Given the description of an element on the screen output the (x, y) to click on. 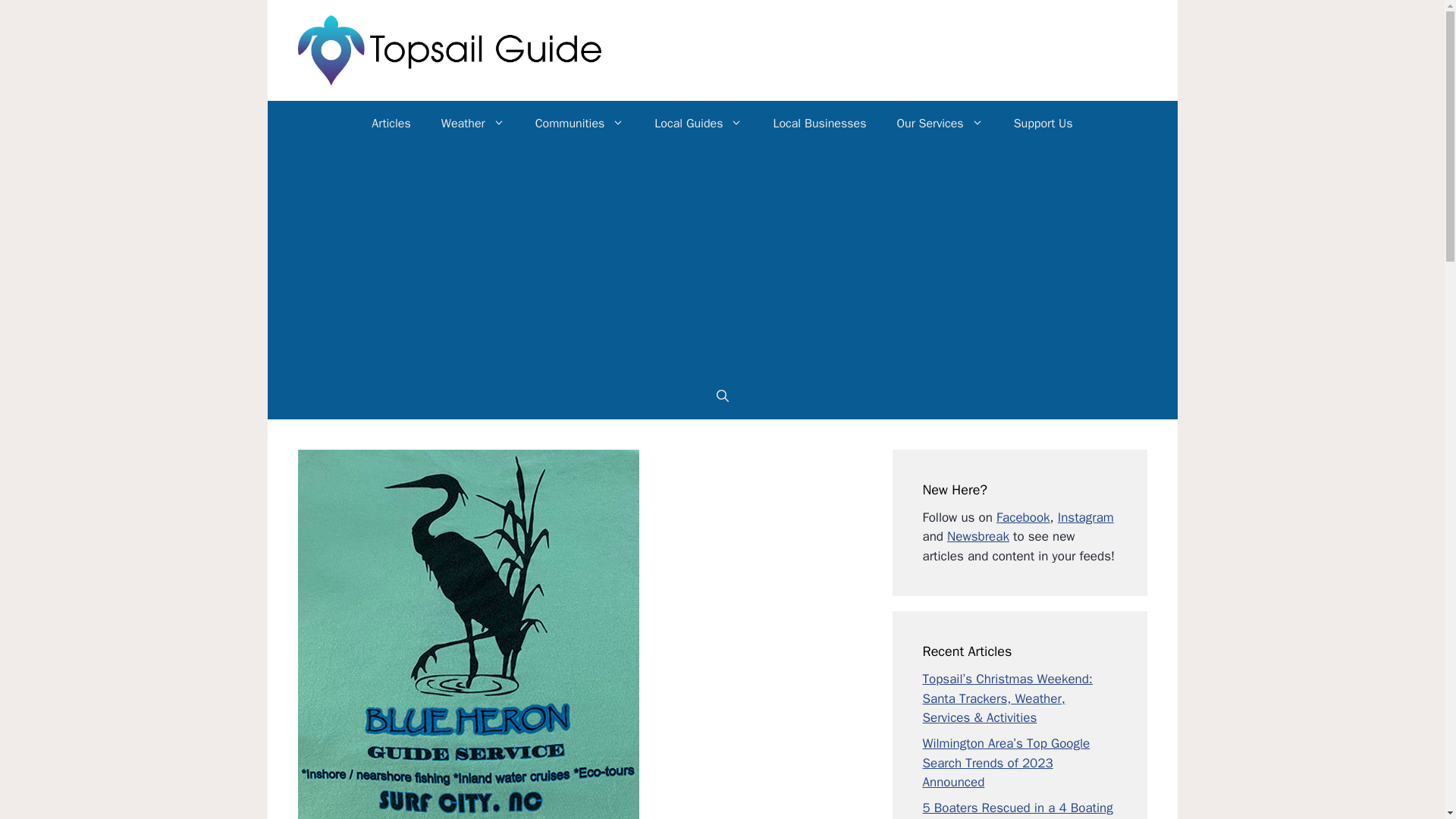
Communities (579, 123)
Our Services (938, 123)
Local Guides (698, 123)
Articles (390, 123)
Weather (472, 123)
Support Us (1042, 123)
Local Businesses (818, 123)
